Given the description of an element on the screen output the (x, y) to click on. 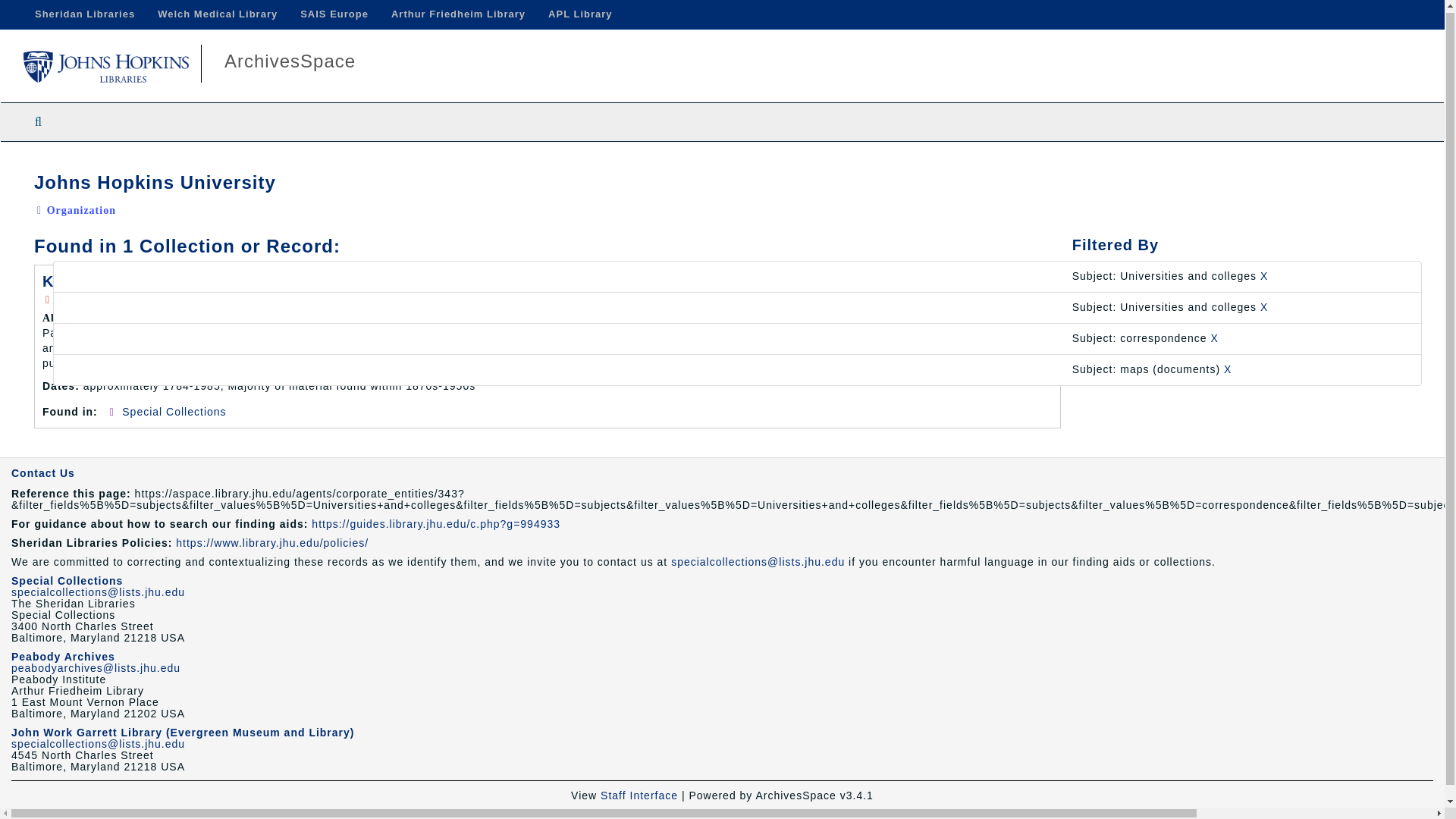
SAIS Europe (334, 14)
Keyser family papers (125, 280)
Search The Archives (38, 121)
Peabody Archives (63, 656)
APL Library (580, 14)
Special Collections (66, 580)
Arthur Friedheim Library (458, 14)
X (1227, 369)
Welch Medical Library (217, 14)
Remove this filter  (1214, 337)
Staff Interface (638, 795)
Page Actions (1130, 165)
Remove this filter  (1227, 369)
Sheridan Libraries (85, 14)
Special Collections (173, 411)
